Given the description of an element on the screen output the (x, y) to click on. 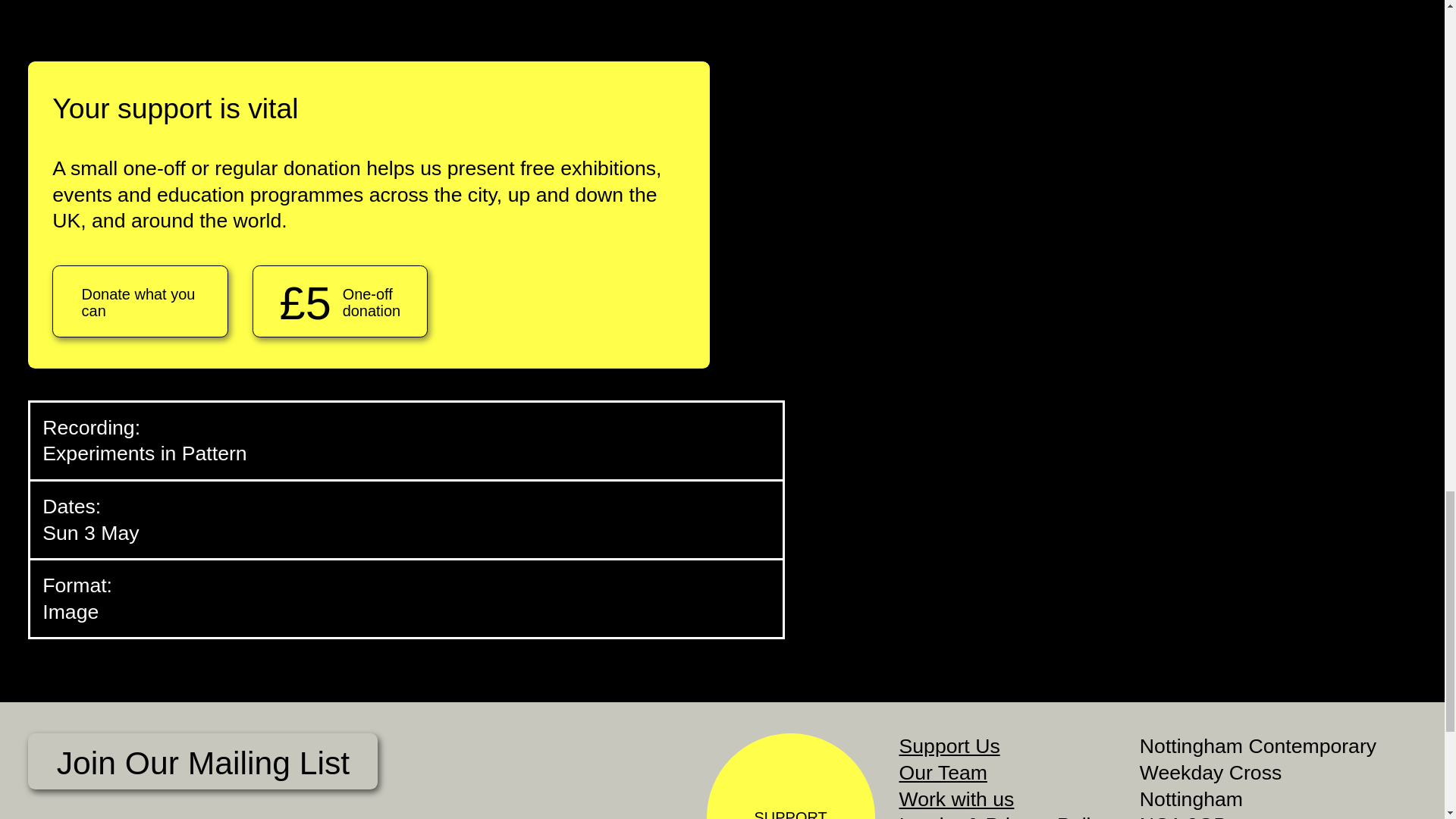
SUPPORT (790, 776)
Join Our Mailing List (202, 761)
Donate what you can (139, 301)
Support Us (949, 745)
Work with us (956, 798)
Our Team (943, 772)
